Given the description of an element on the screen output the (x, y) to click on. 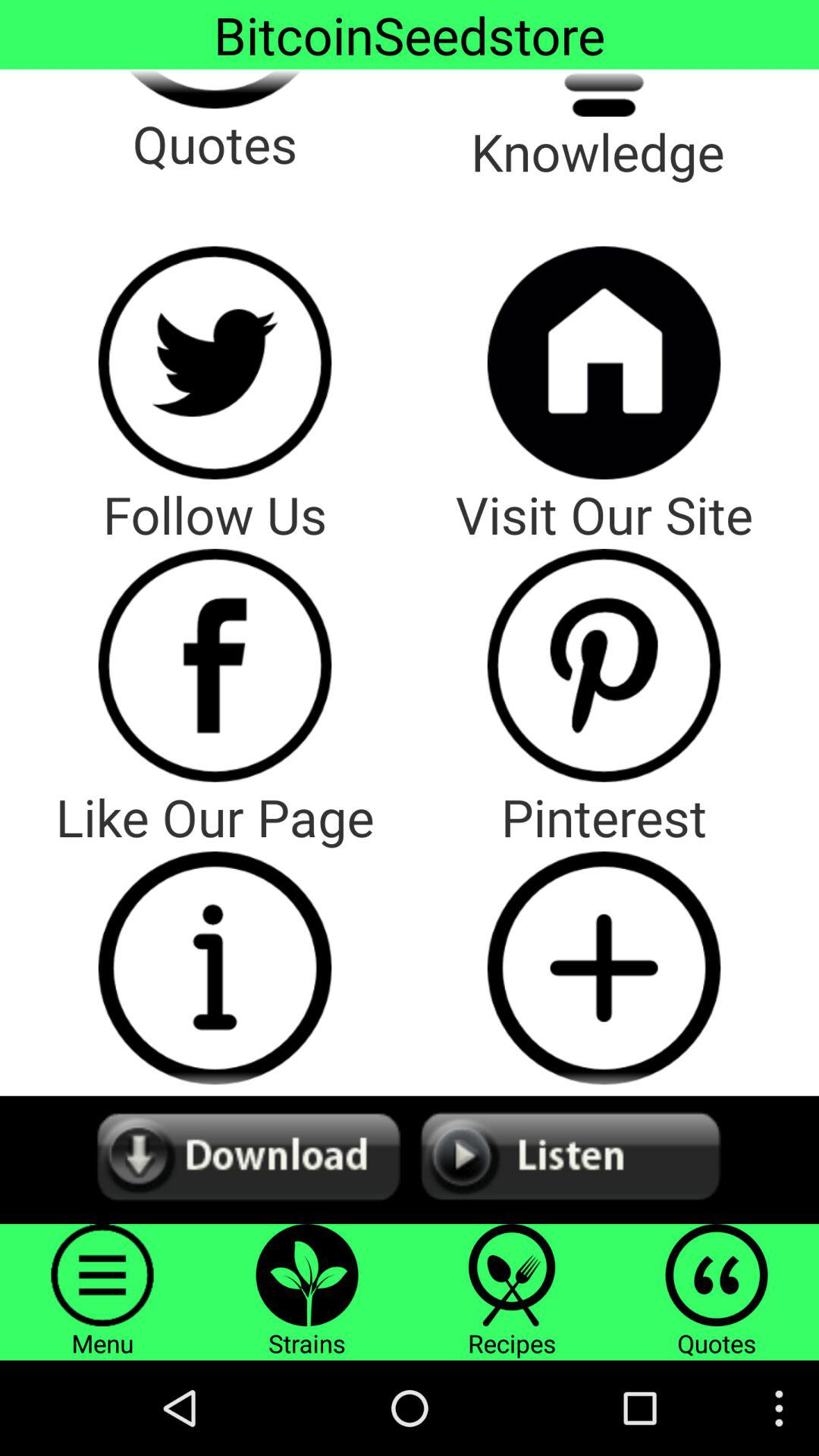
view quotes (214, 88)
